Given the description of an element on the screen output the (x, y) to click on. 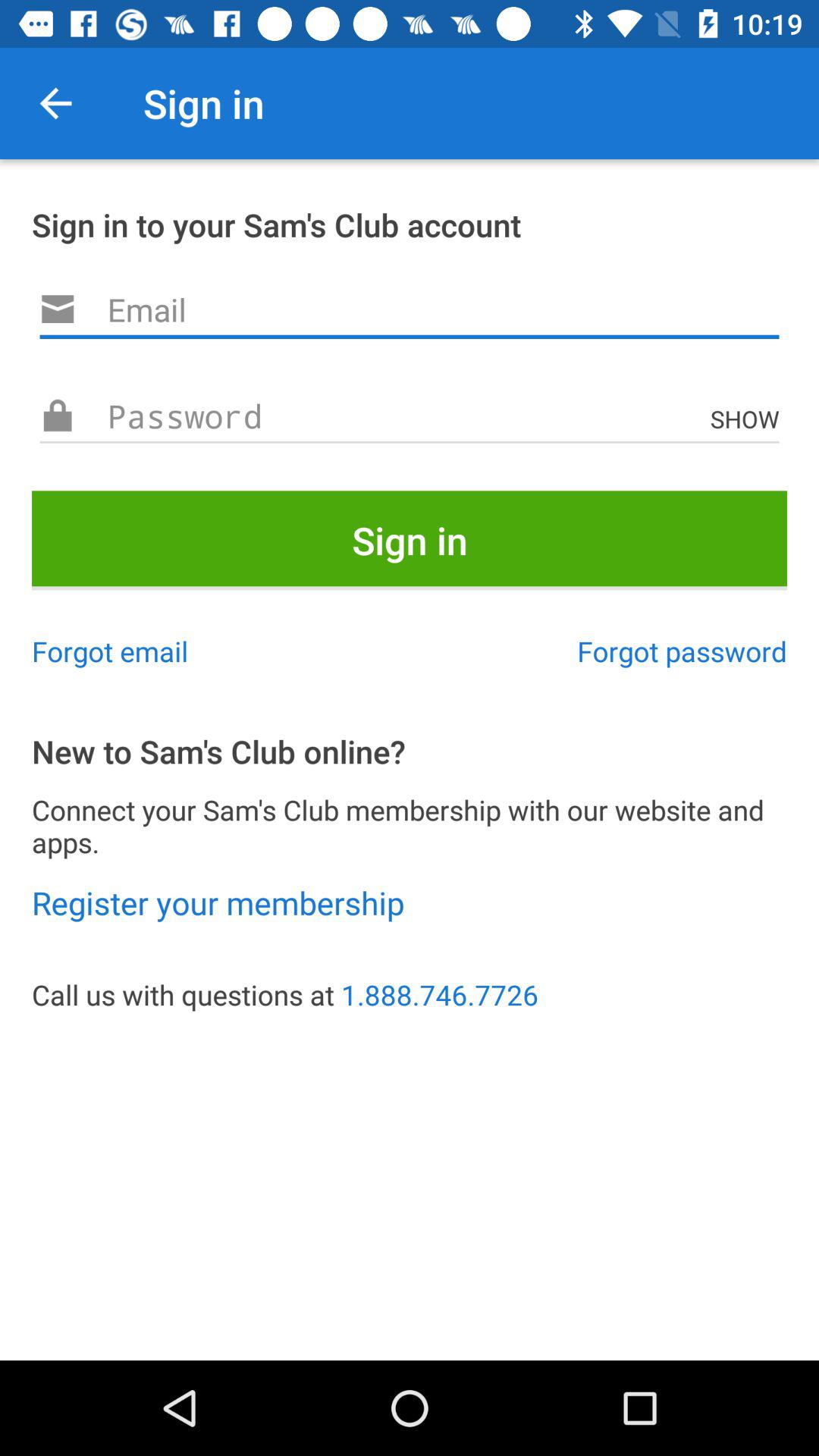
open the item on the right (682, 650)
